Given the description of an element on the screen output the (x, y) to click on. 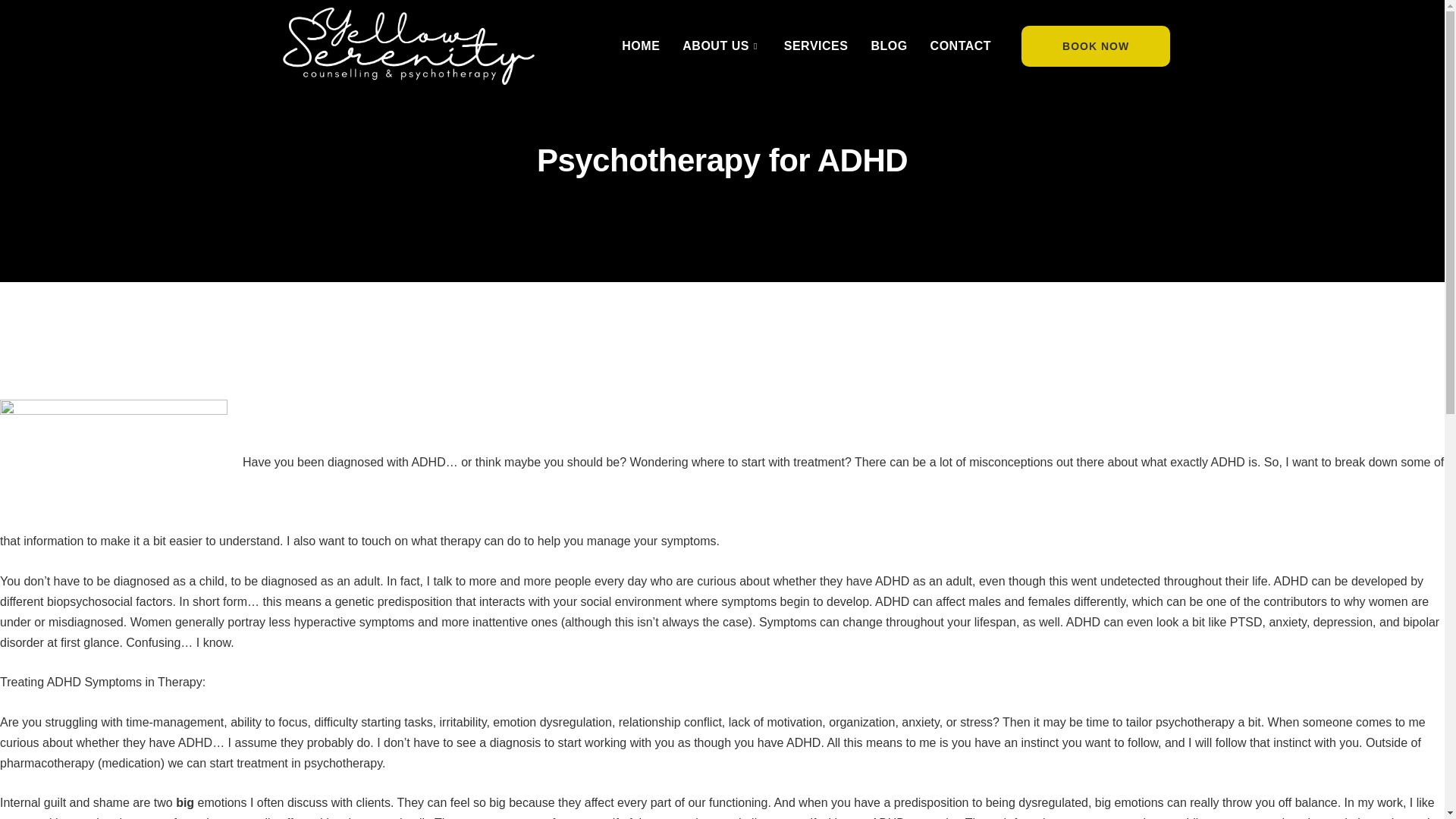
ABOUT US (721, 46)
BOOK NOW (1096, 45)
SERVICES (816, 46)
HOME (640, 46)
BLOG (888, 46)
CONTACT (960, 46)
